Given the description of an element on the screen output the (x, y) to click on. 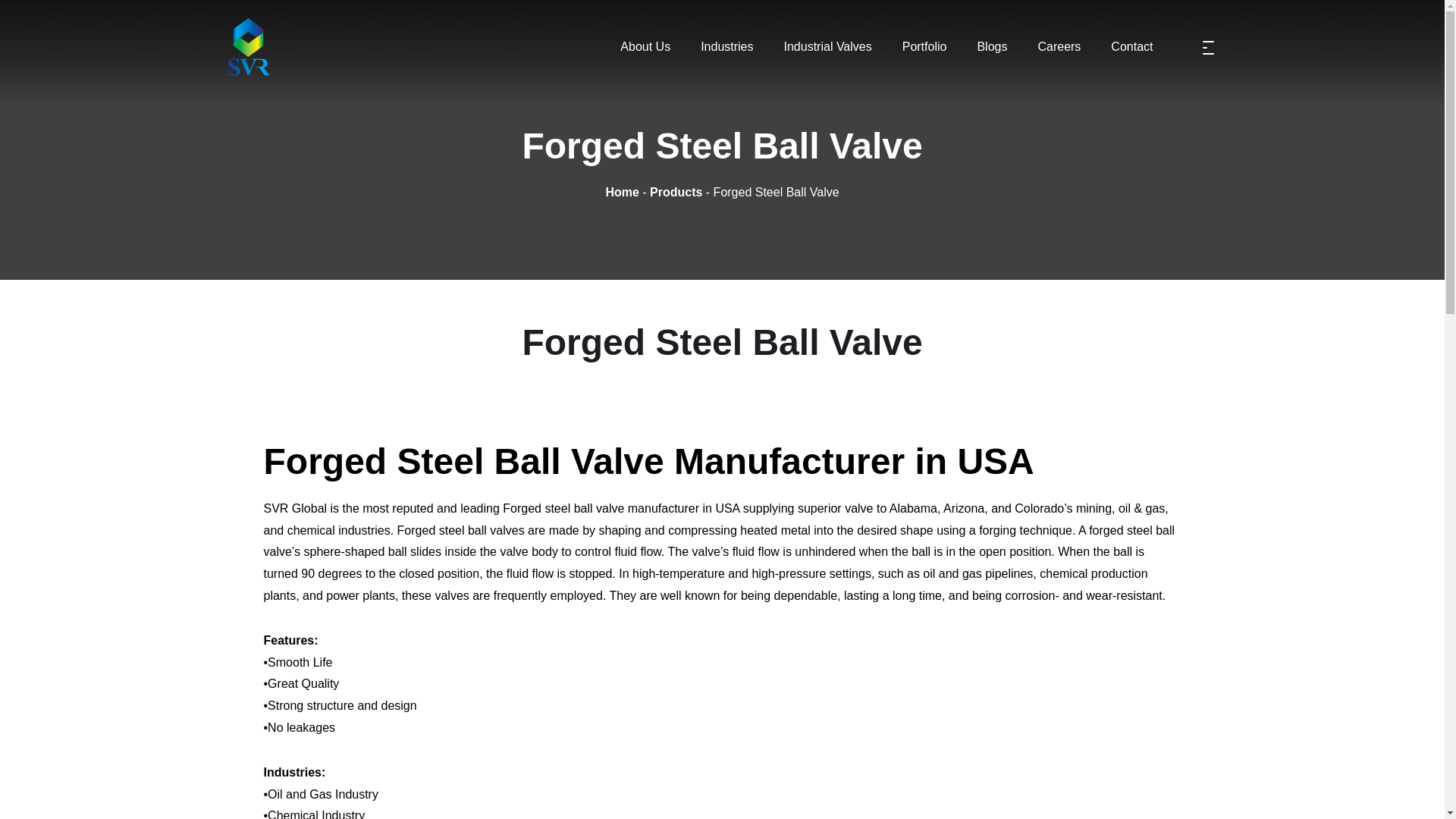
Industrial Valves (827, 47)
About Us (645, 47)
Industries (726, 47)
